Given the description of an element on the screen output the (x, y) to click on. 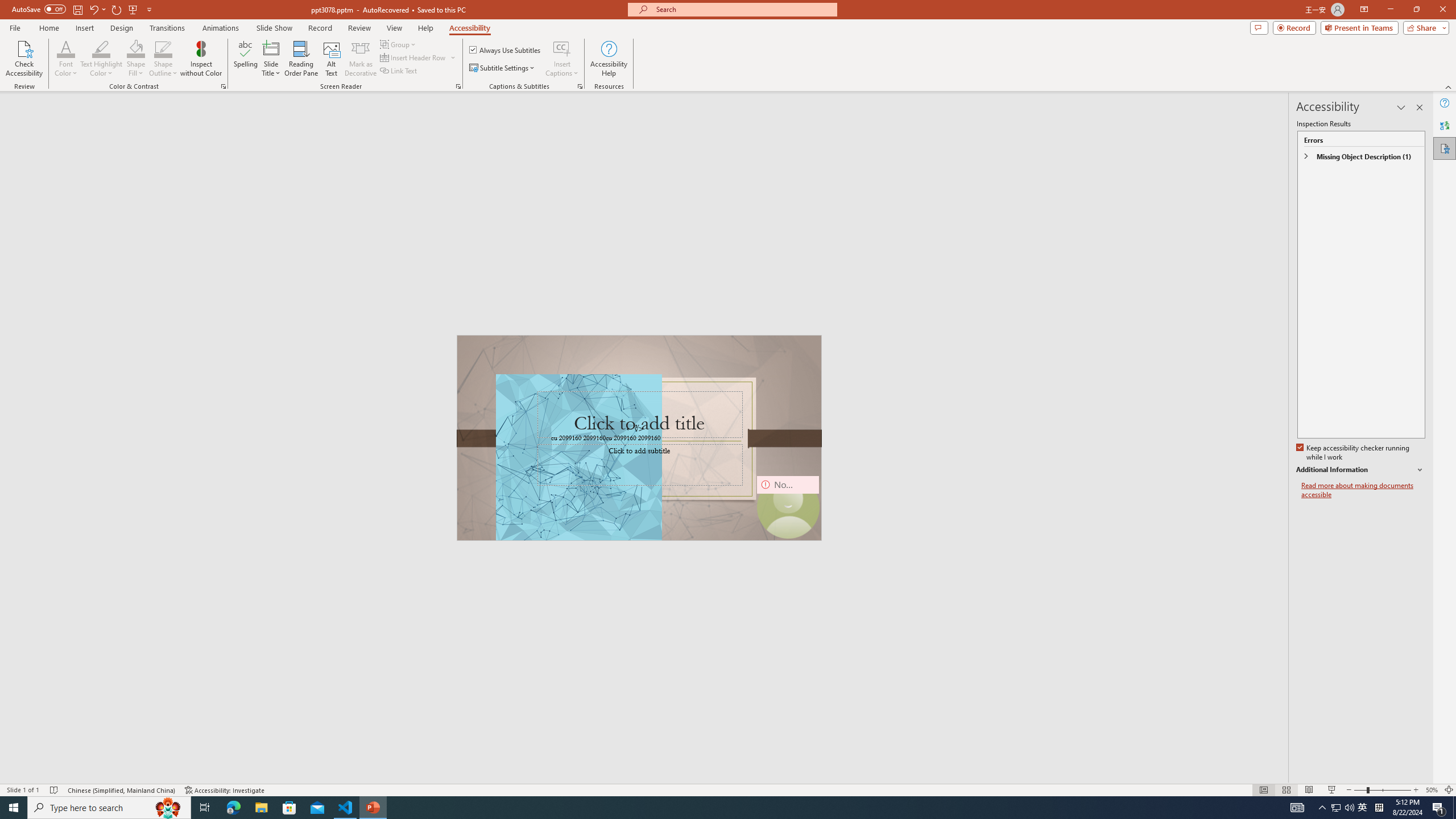
Zoom 50% (1431, 790)
Color & Contrast (223, 85)
Accessibility Help (608, 58)
Inspect without Color (201, 58)
